Given the description of an element on the screen output the (x, y) to click on. 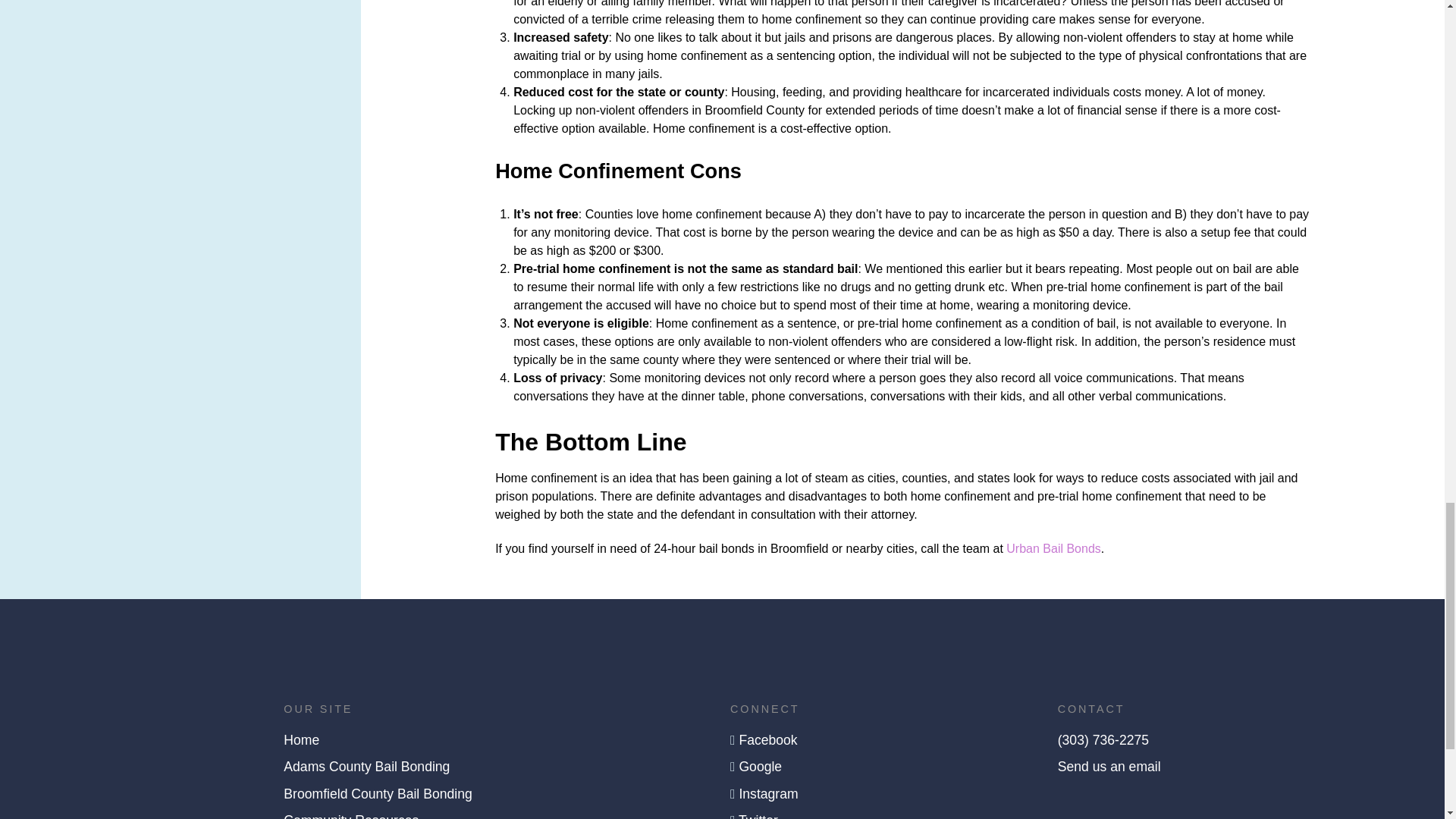
Community Resources (351, 816)
Urban Bail Bonds (1053, 548)
Google (759, 766)
Adams County Bail Bonding (366, 766)
Broomfield County Bail Bonding (377, 792)
Home (300, 739)
Send us an email (1109, 766)
Instagram (767, 792)
Home (300, 739)
Broomfield County Bail Bonding (377, 792)
